Given the description of an element on the screen output the (x, y) to click on. 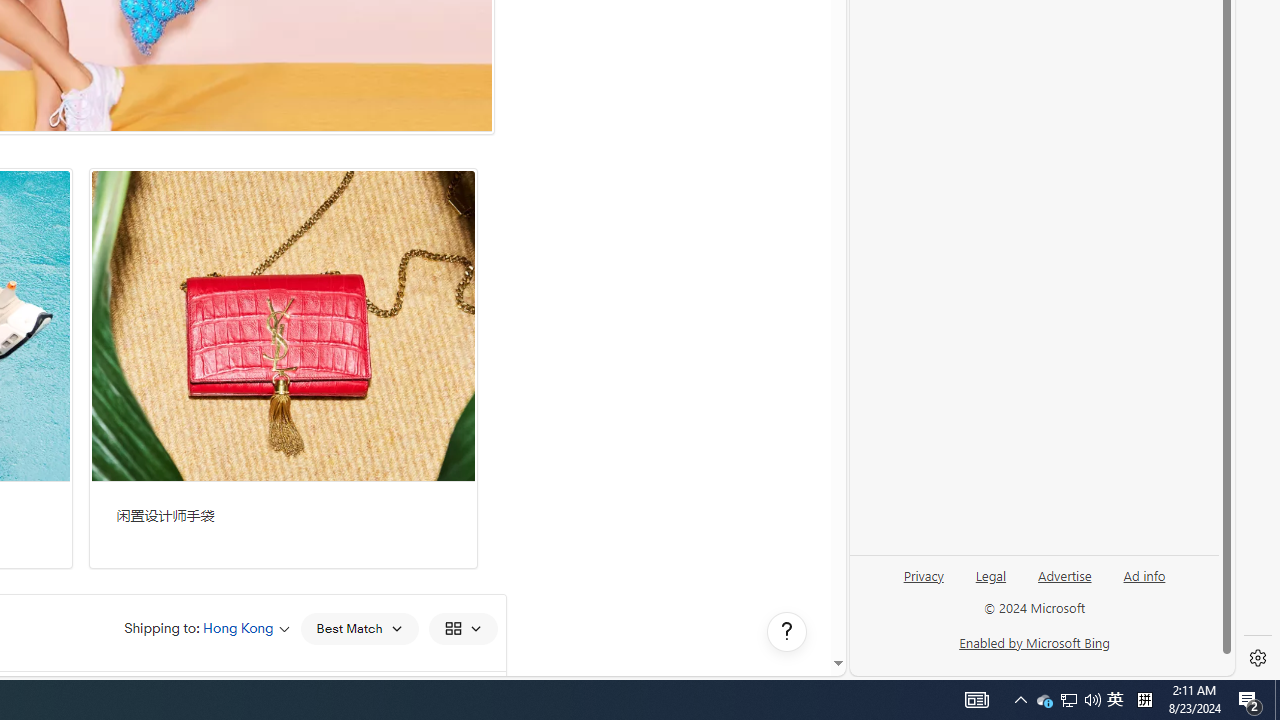
Shipping to: Hong Kong (207, 628)
Sort: Best Match (358, 628)
View: Gallery View (462, 628)
Help, opens dialogs (787, 632)
